Given the description of an element on the screen output the (x, y) to click on. 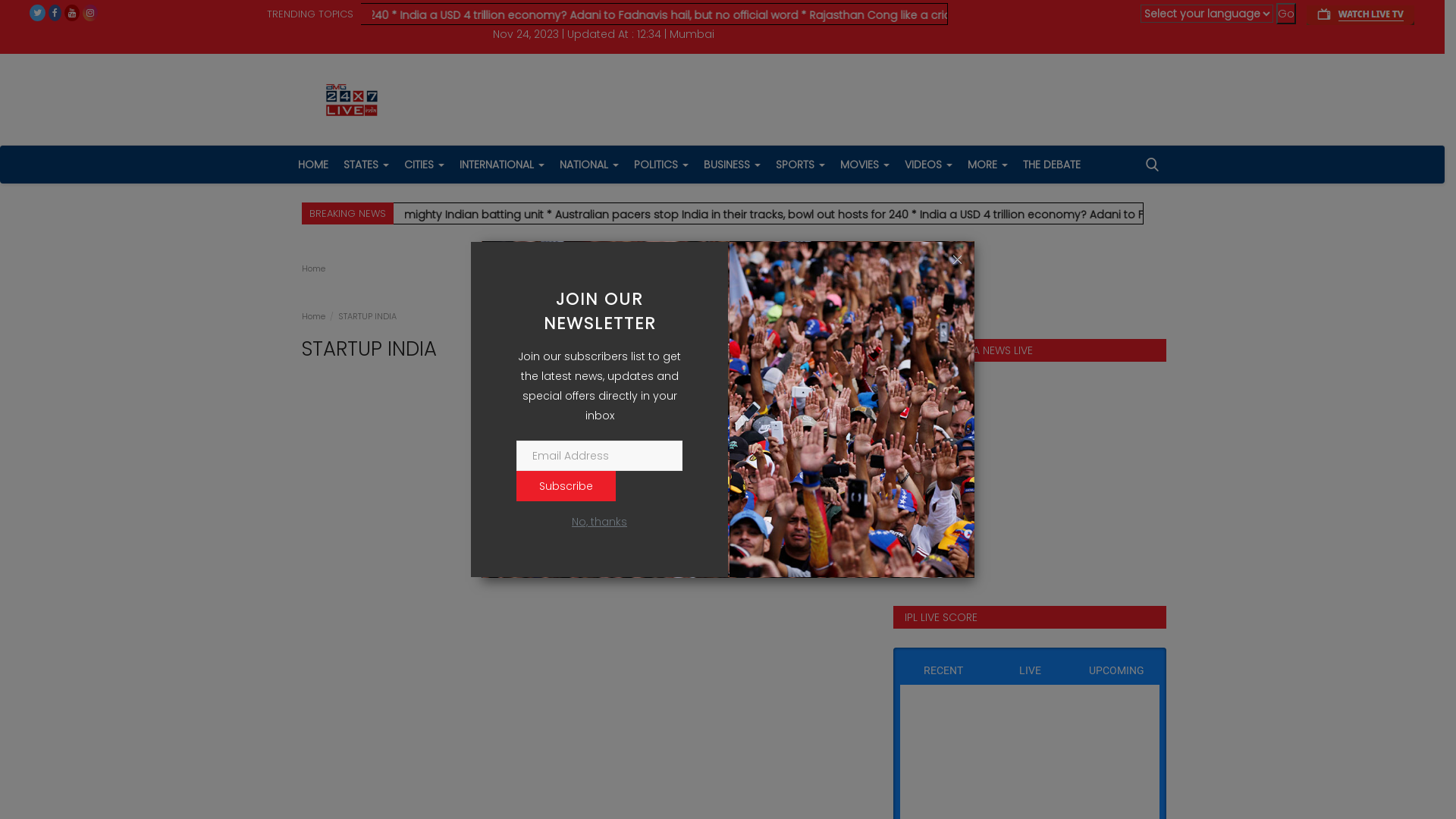
Go Element type: text (1285, 13)
INTERNATIONAL Element type: text (501, 164)
STATES Element type: text (365, 164)
Home Element type: text (313, 268)
Subscribe Element type: text (565, 485)
CITIES Element type: text (423, 164)
POLITICS Element type: text (661, 164)
Advertisement Element type: hover (585, 416)
SPORTS Element type: text (799, 164)
NATIONAL Element type: text (589, 164)
MOVIES Element type: text (864, 164)
THE DEBATE Element type: text (1050, 164)
Advertisement Element type: hover (585, 553)
HOME Element type: text (312, 164)
VIDEOS Element type: text (927, 164)
No, thanks Element type: text (599, 521)
Home Element type: text (313, 316)
YouTube video player Element type: hover (1025, 475)
MORE Element type: text (987, 164)
BUSINESS Element type: text (732, 164)
